Given the description of an element on the screen output the (x, y) to click on. 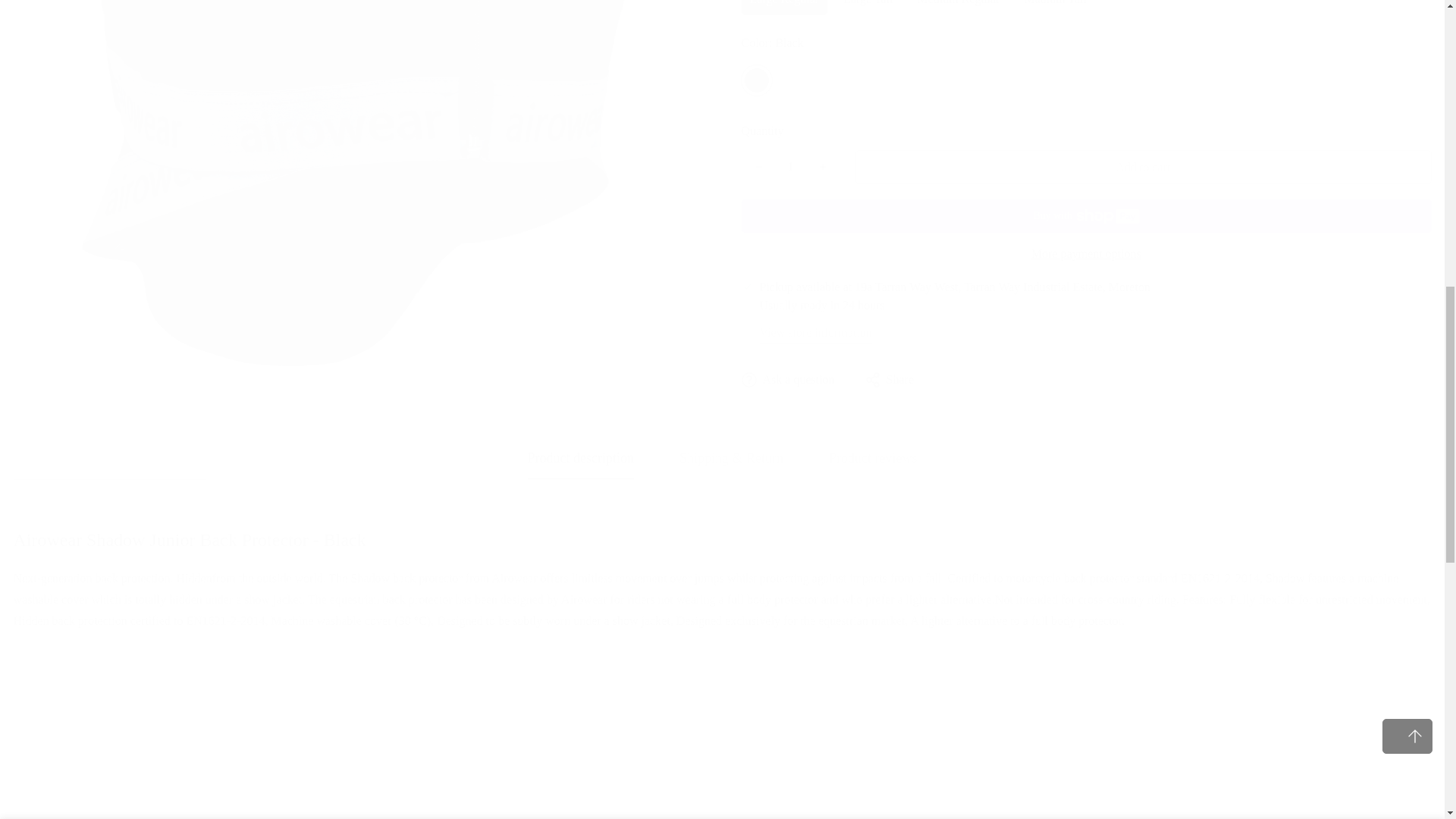
1 (1261, 28)
